Given the description of an element on the screen output the (x, y) to click on. 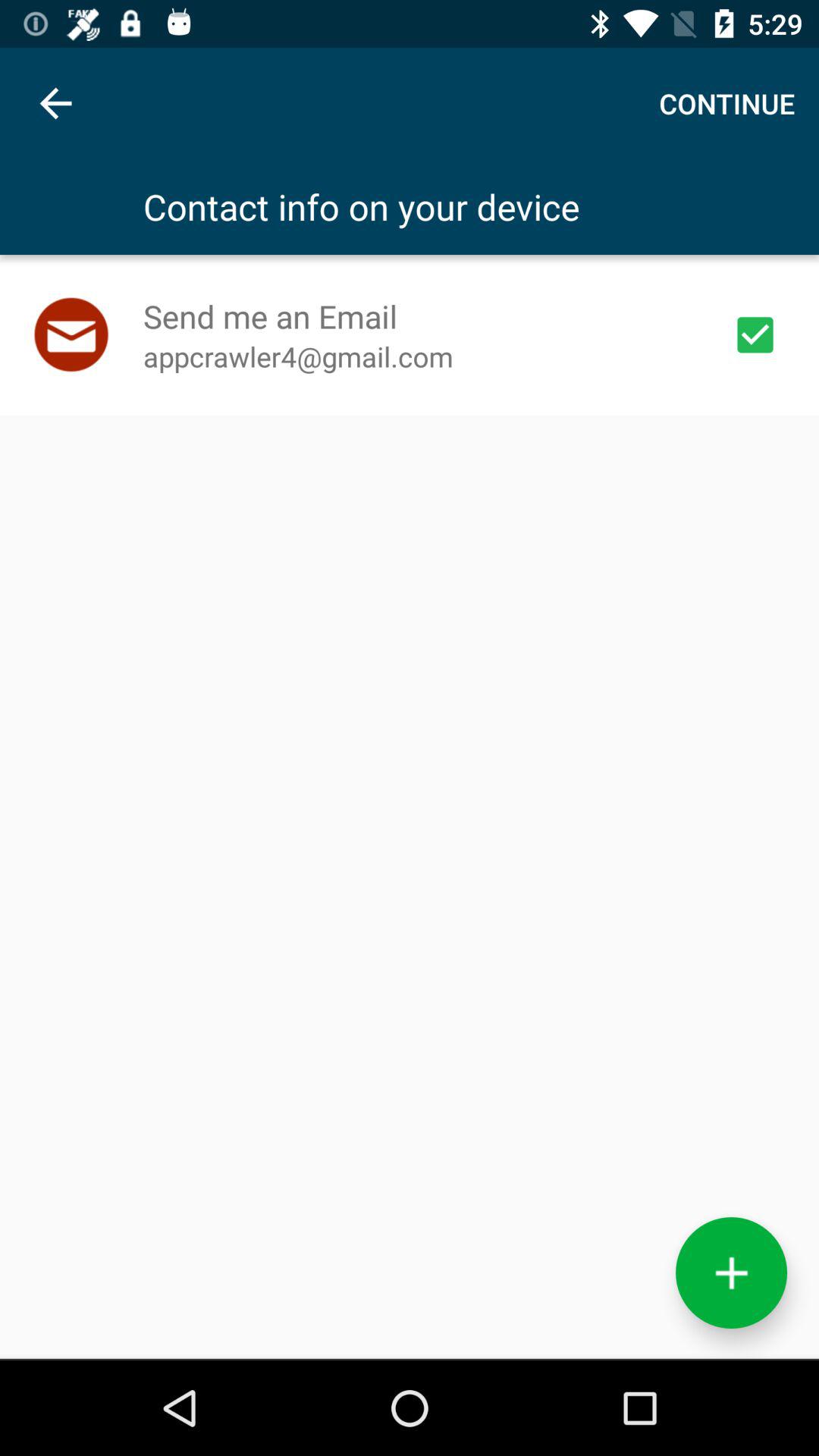
open item to the left of the continue icon (55, 103)
